Given the description of an element on the screen output the (x, y) to click on. 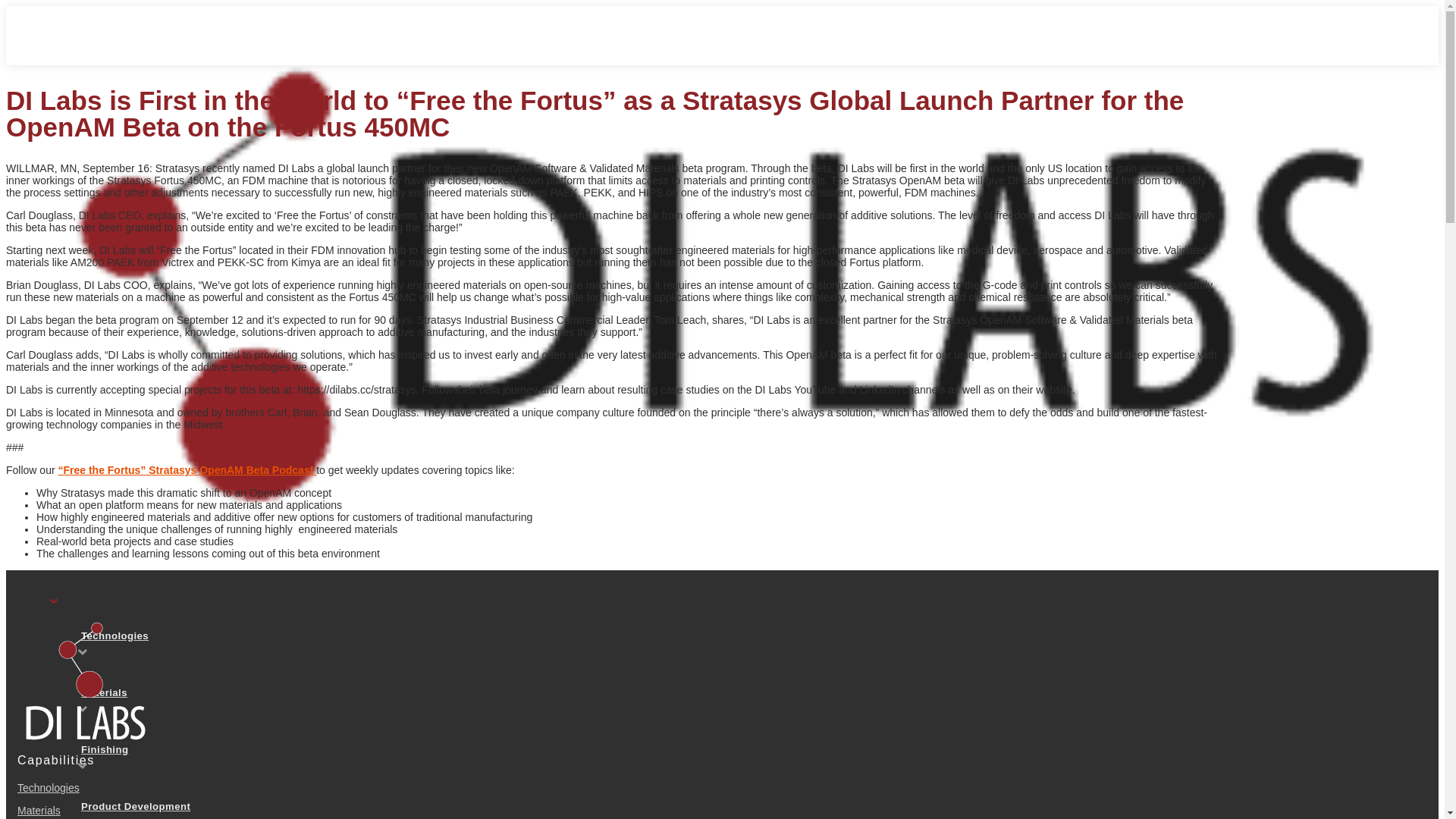
Technologies Element type: text (48, 787)
Technologies Element type: text (151, 642)
CAPABILITIES Element type: text (737, 591)
Finishing Element type: text (151, 756)
Materials Element type: text (38, 810)
Materials Element type: text (151, 699)
